Given the description of an element on the screen output the (x, y) to click on. 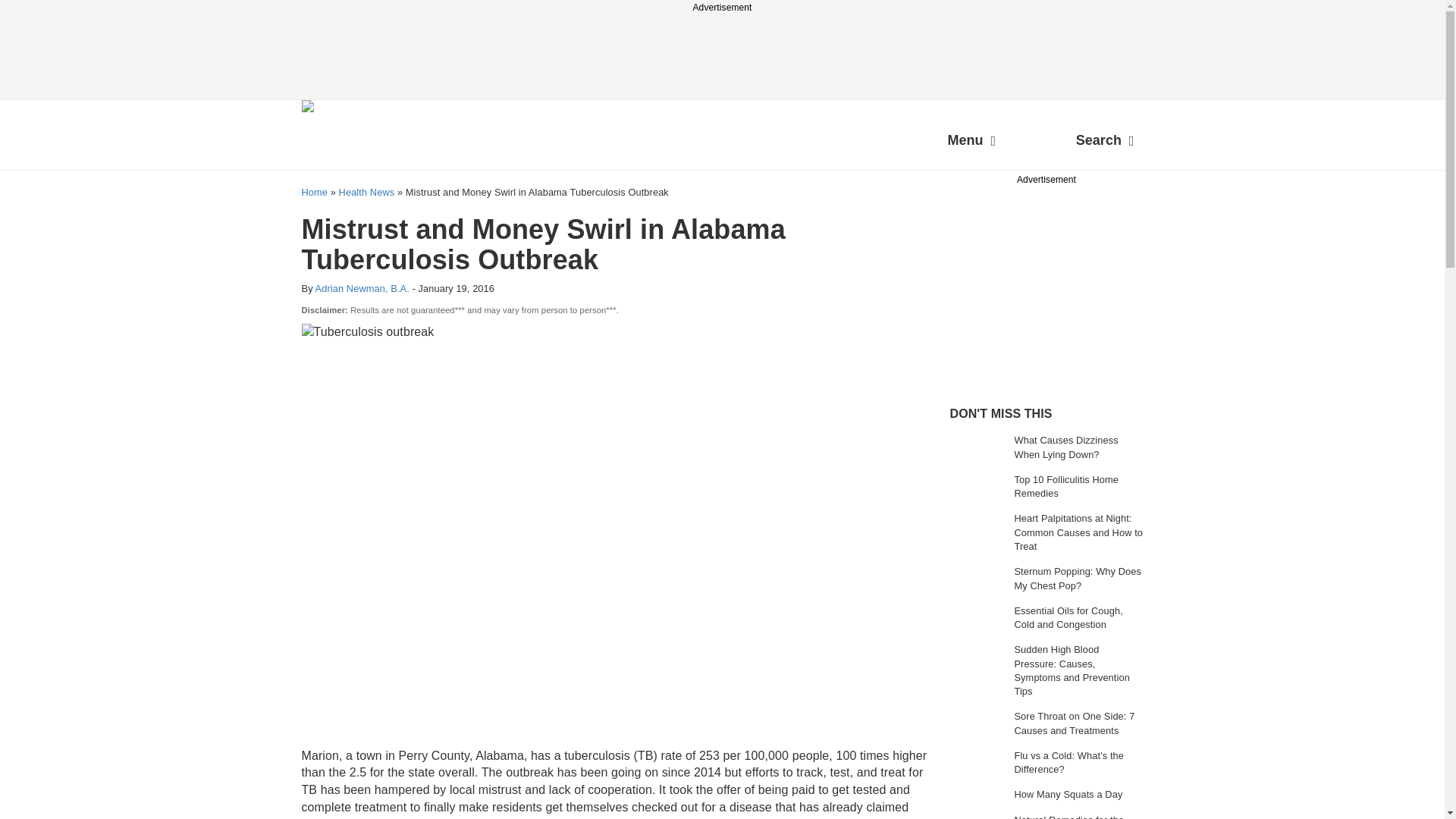
Menu (970, 142)
Search (1104, 142)
Posts by Adrian Newman, B.A. (362, 288)
